Given the description of an element on the screen output the (x, y) to click on. 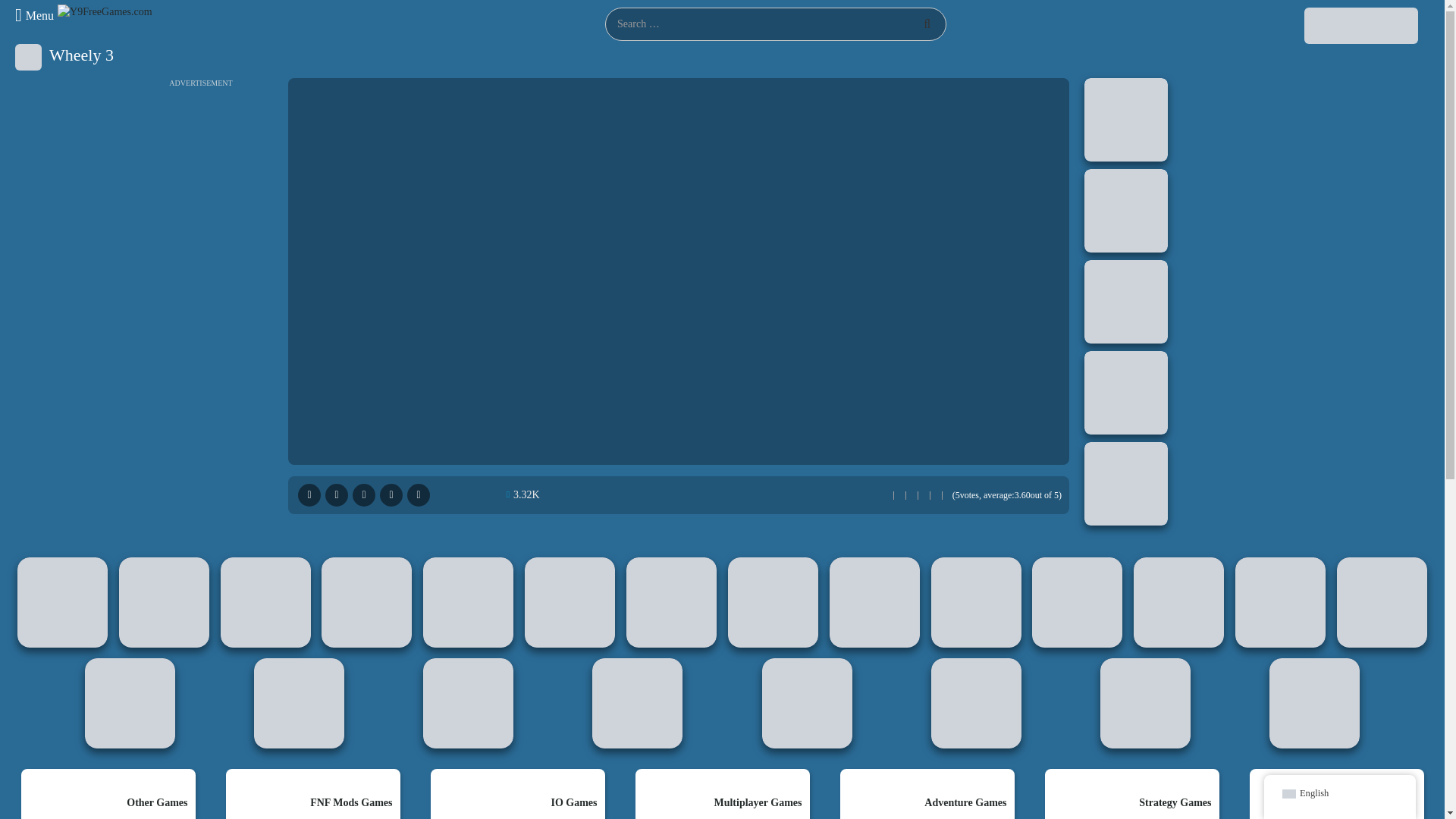
Add to Favorites (418, 495)
Click Here to Search (926, 24)
Refresh the Game (391, 495)
Join us on Discord (1361, 24)
3 Stars (914, 495)
Play in fullscreen (309, 495)
Y9FreeGames.com (104, 11)
Jump Jousts 2 (1125, 392)
Y9FreeGames.com (104, 10)
Pop It Bubble Game (1125, 119)
Batman Shadow Combat (1125, 301)
Report the Game (363, 495)
Bomber XXL (1125, 210)
1 Star (889, 495)
4 Stars (925, 495)
